Given the description of an element on the screen output the (x, y) to click on. 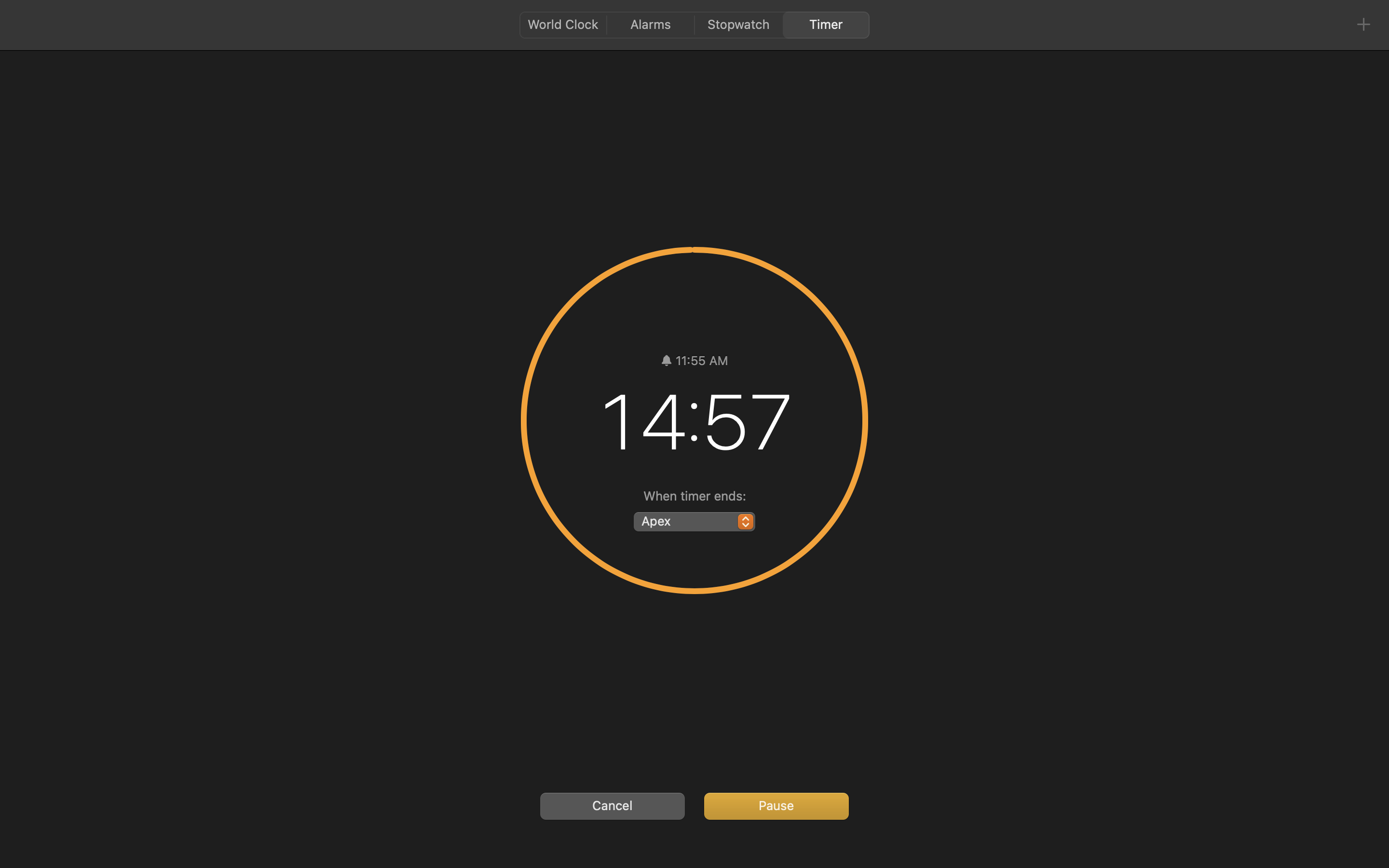
<AXUIElement 0x10f0f4890> {pid=1597} Element type: AXRadioGroup (693, 24)
Apex Element type: AXPopUpButton (694, 523)
